Given the description of an element on the screen output the (x, y) to click on. 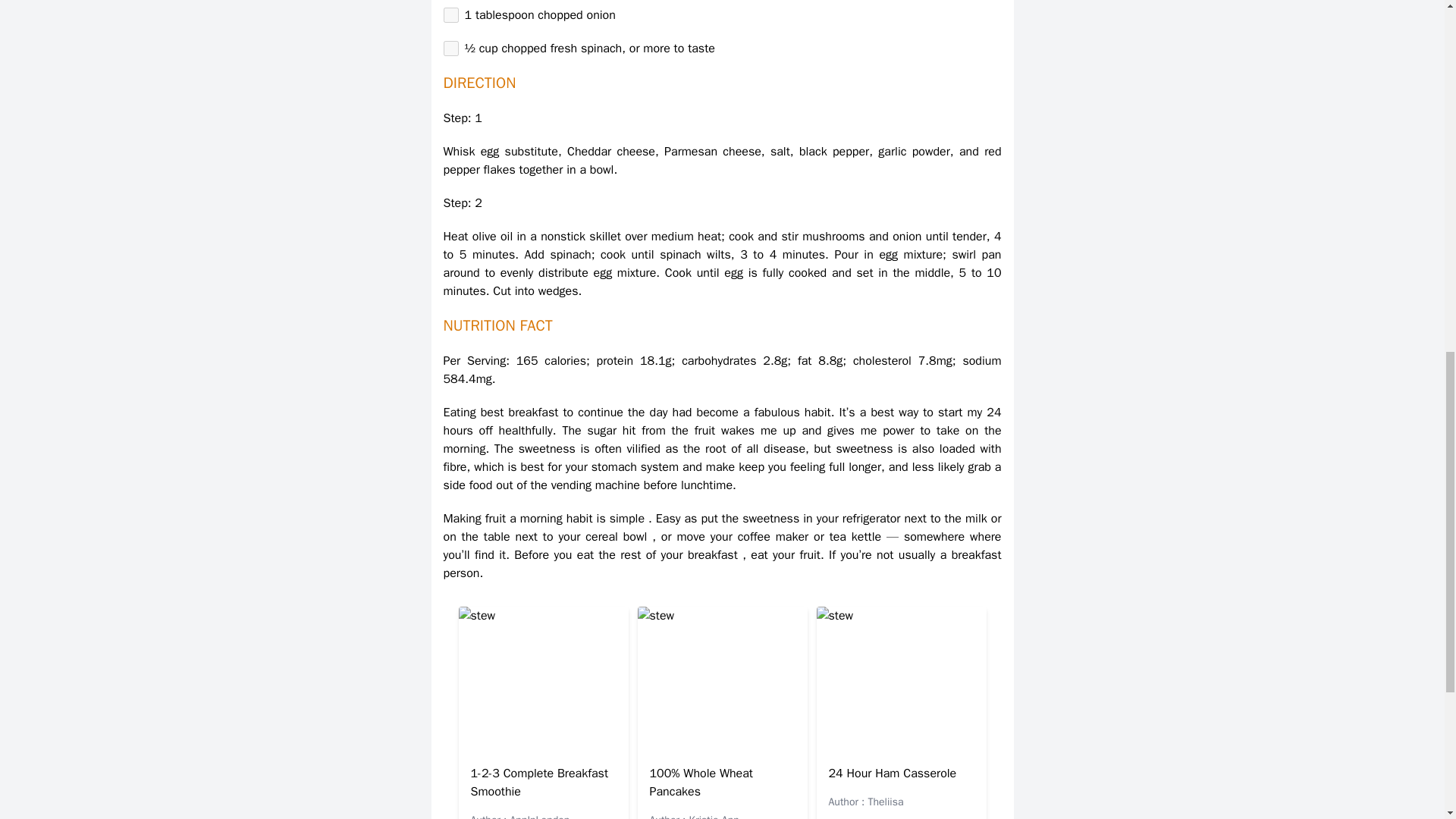
on (450, 48)
1-2-3 Complete Breakfast Smoothie (539, 782)
24 Hour Ham Casserole (892, 773)
on (450, 14)
